Given the description of an element on the screen output the (x, y) to click on. 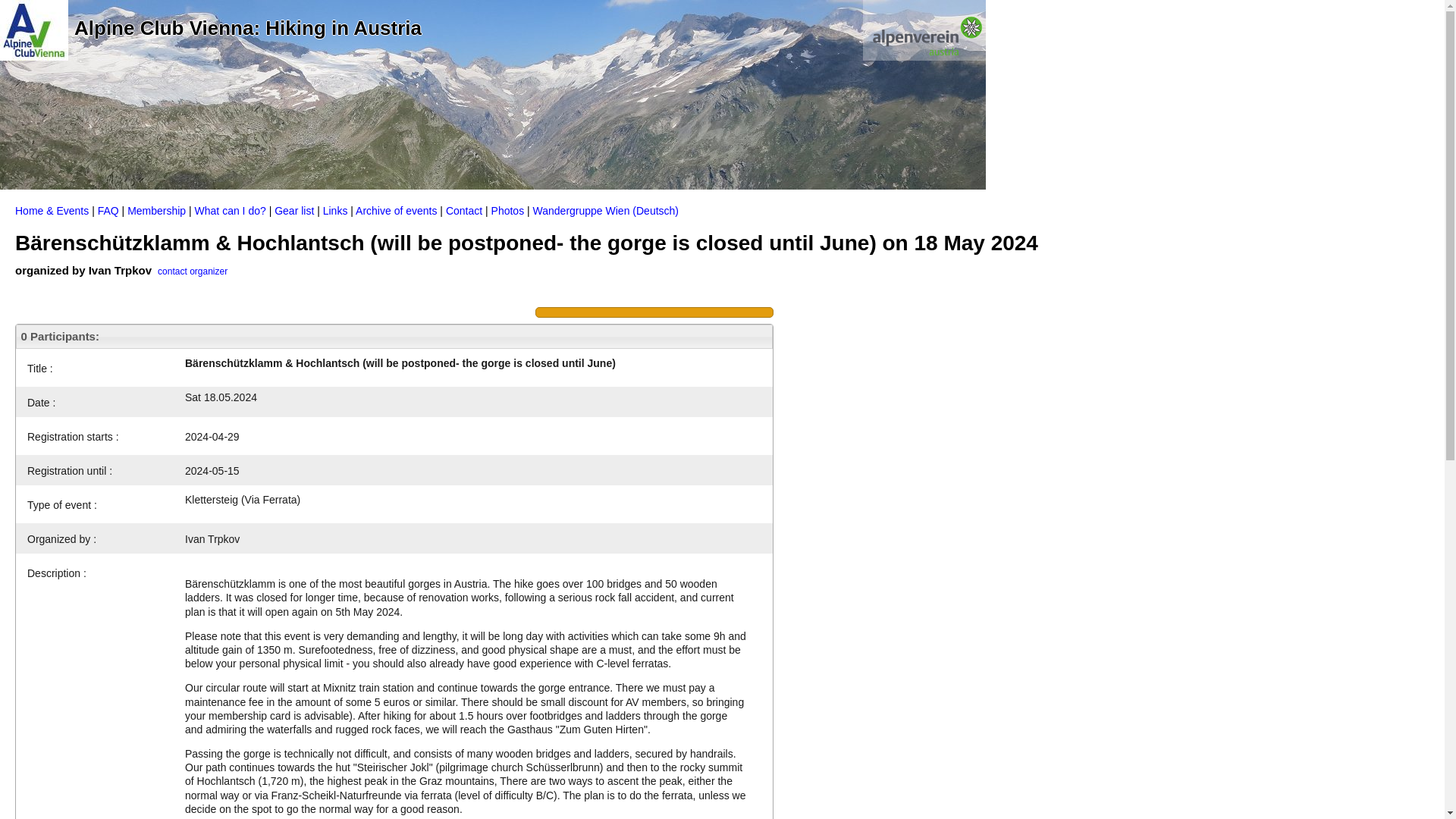
contact organizer (192, 270)
Contact (463, 210)
Links (335, 210)
Membership (157, 210)
Archive of events (395, 210)
FAQ (108, 210)
Photos (508, 210)
Gear list (294, 210)
What can I do? (230, 210)
